Given the description of an element on the screen output the (x, y) to click on. 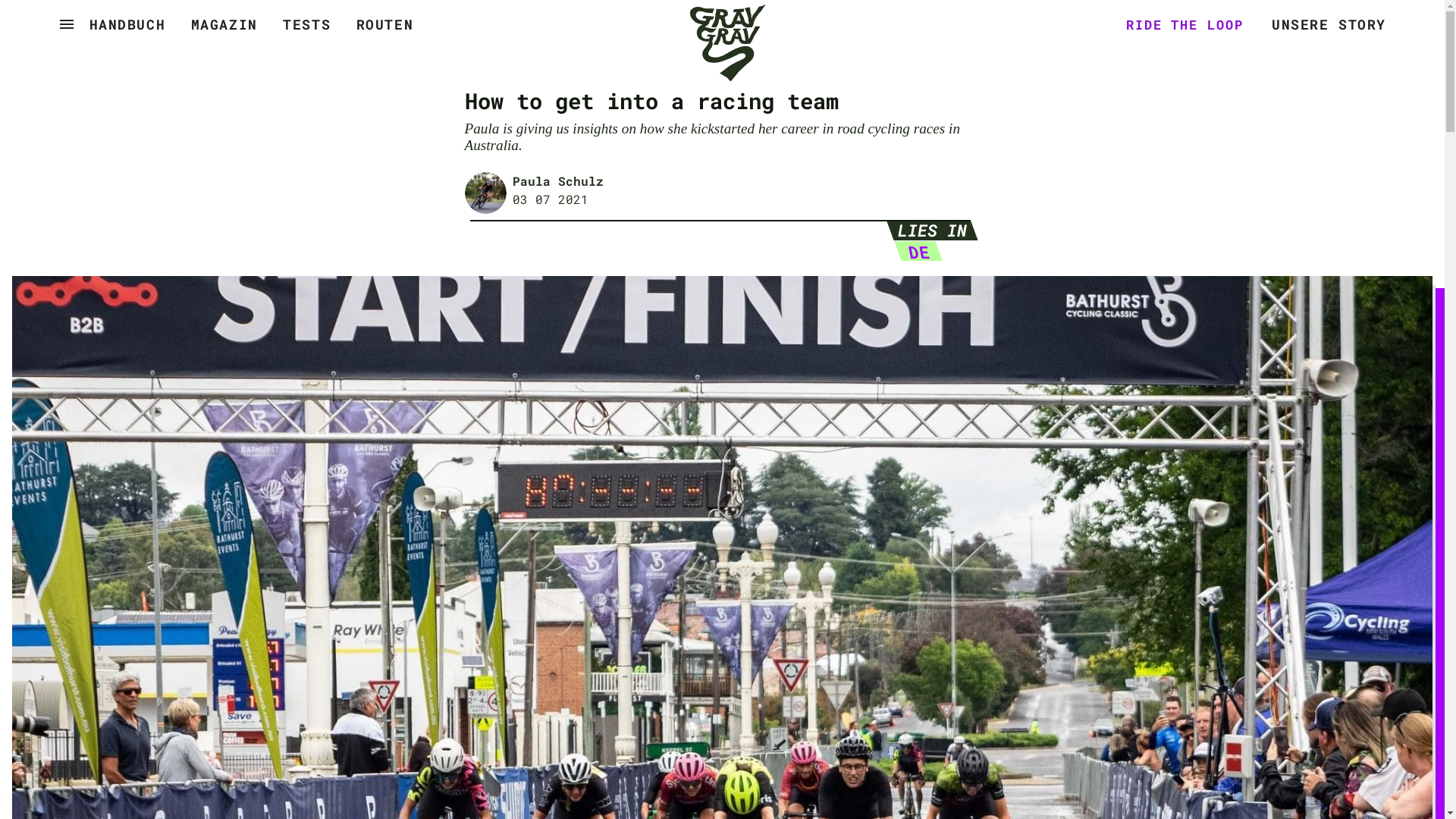
RIDE THE LOOP Element type: text (1177, 22)
Paula Schulz Element type: text (557, 180)
ROUTEN Element type: text (383, 23)
TESTS Element type: text (305, 23)
UNSERE STORY Element type: text (1328, 23)
DE Element type: text (914, 250)
MAGAZIN Element type: text (223, 23)
DE Element type: text (914, 252)
HANDBUCH Element type: text (126, 23)
